Given the description of an element on the screen output the (x, y) to click on. 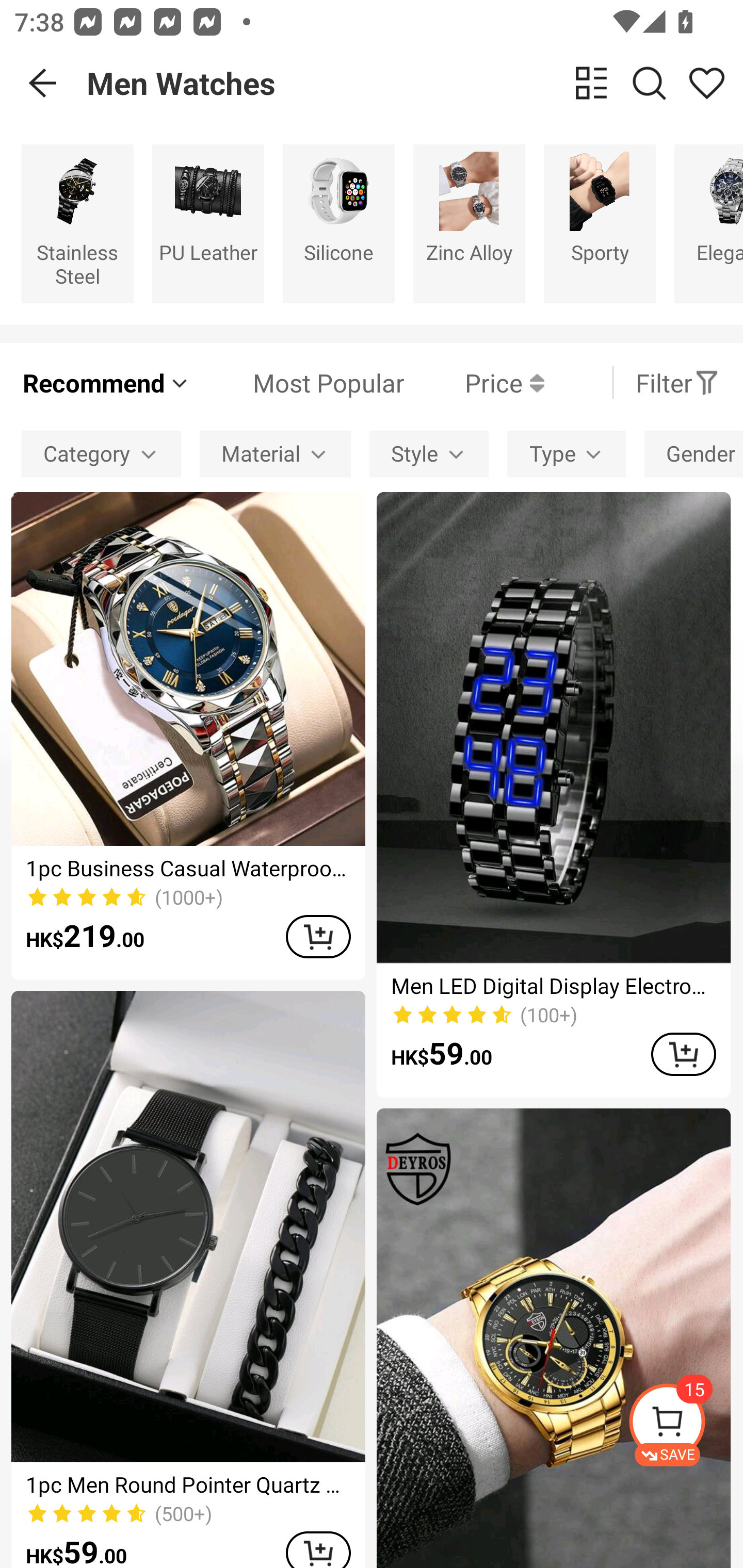
Men Watches change view Search Share (414, 82)
change view (591, 82)
Search (648, 82)
Share (706, 82)
Stainless Steel (77, 223)
PU Leather (208, 223)
Silicone (338, 223)
Zinc Alloy (469, 223)
Sporty (599, 223)
Elegant (708, 223)
Recommend (106, 382)
Most Popular (297, 382)
Price (474, 382)
Filter (677, 382)
Category (101, 454)
Material (274, 454)
Style (428, 454)
Type (566, 454)
Gender (693, 454)
ADD TO CART (318, 936)
ADD TO CART (683, 1054)
Men Triple Dial Date Quartz Watch (553, 1338)
SAVE (685, 1424)
ADD TO CART (318, 1549)
